Given the description of an element on the screen output the (x, y) to click on. 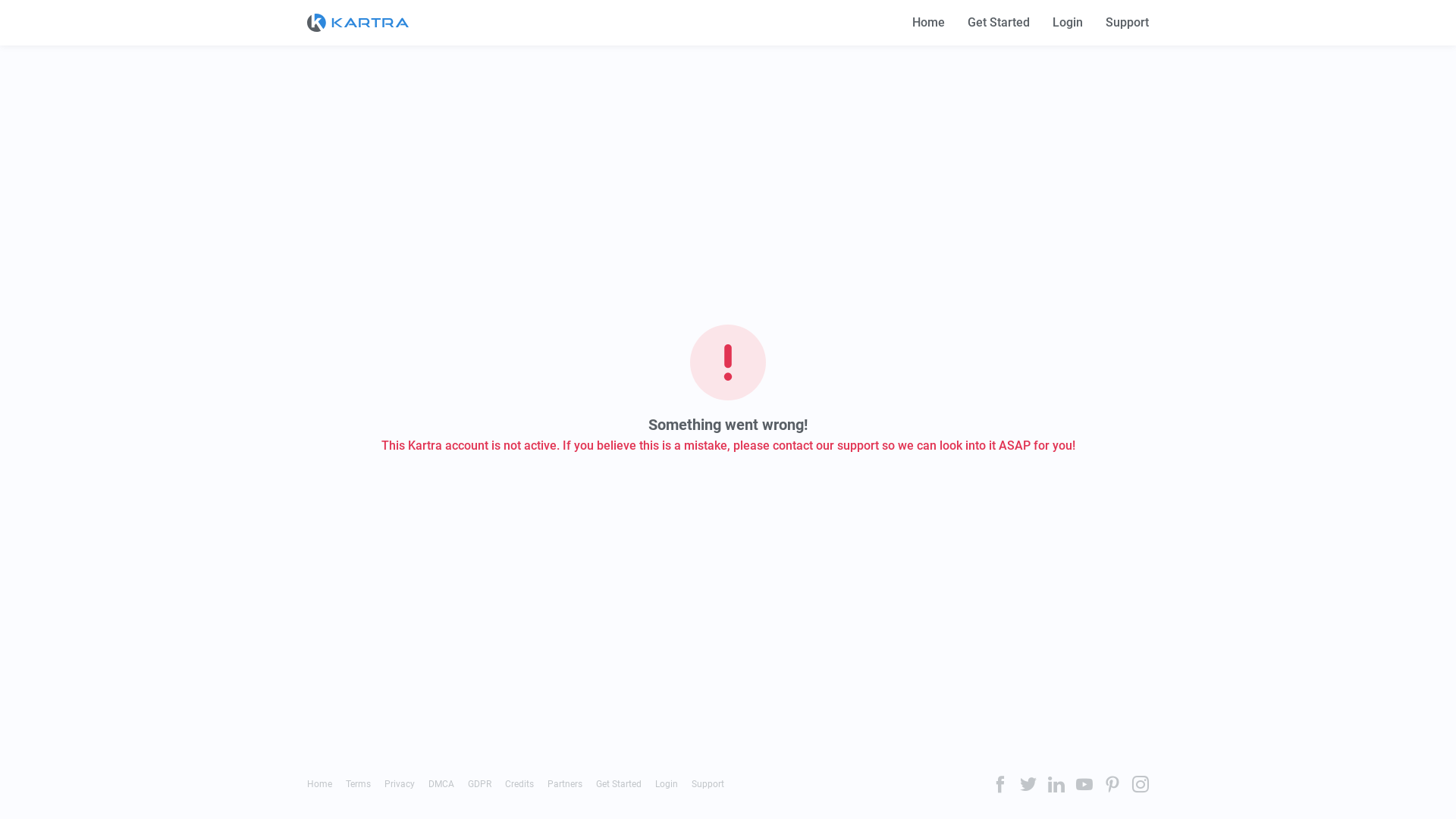
Home Element type: text (928, 22)
Partners Element type: text (564, 783)
DMCA Element type: text (441, 783)
Support Element type: text (1126, 22)
Home Element type: text (319, 783)
Privacy Element type: text (399, 783)
Terms Element type: text (357, 783)
Get Started Element type: text (618, 783)
Get Started Element type: text (998, 22)
Support Element type: text (707, 783)
GDPR Element type: text (479, 783)
Login Element type: text (1067, 22)
Credits Element type: text (519, 783)
Login Element type: text (666, 783)
